Given the description of an element on the screen output the (x, y) to click on. 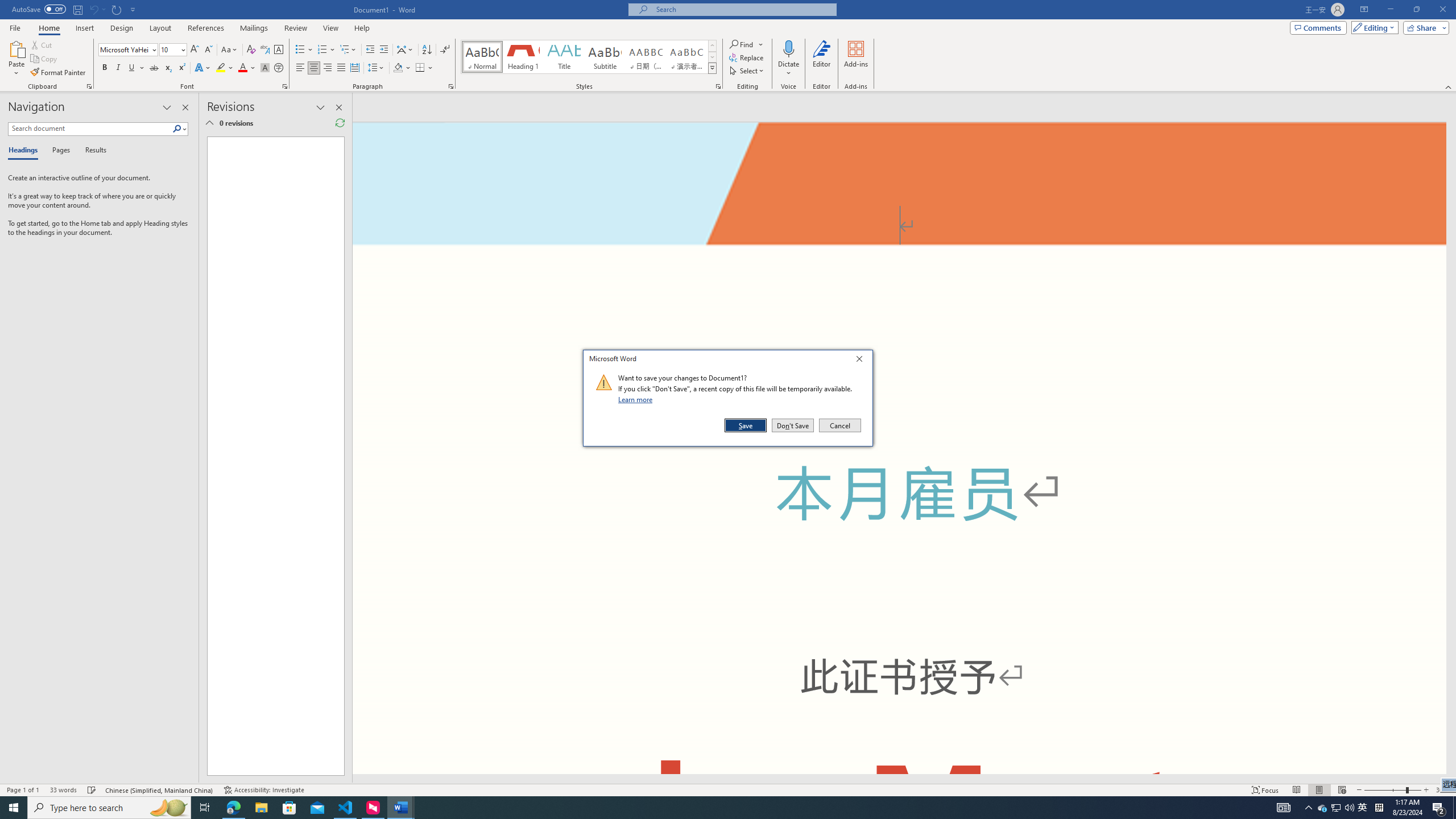
Can't Undo (1362, 807)
Show Detailed Summary (96, 9)
